Given the description of an element on the screen output the (x, y) to click on. 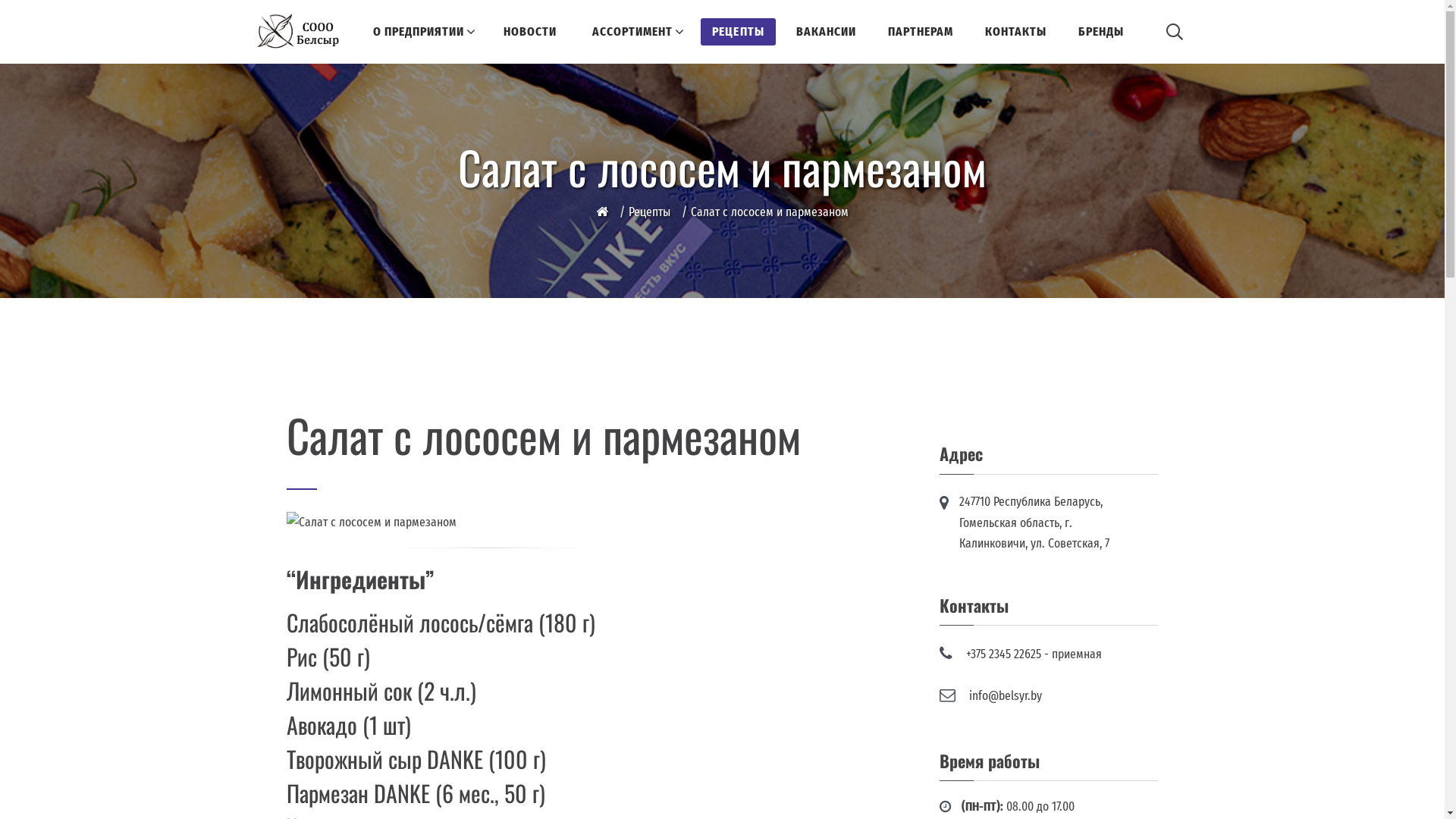
info@belsyr.by Element type: text (1005, 695)
